Given the description of an element on the screen output the (x, y) to click on. 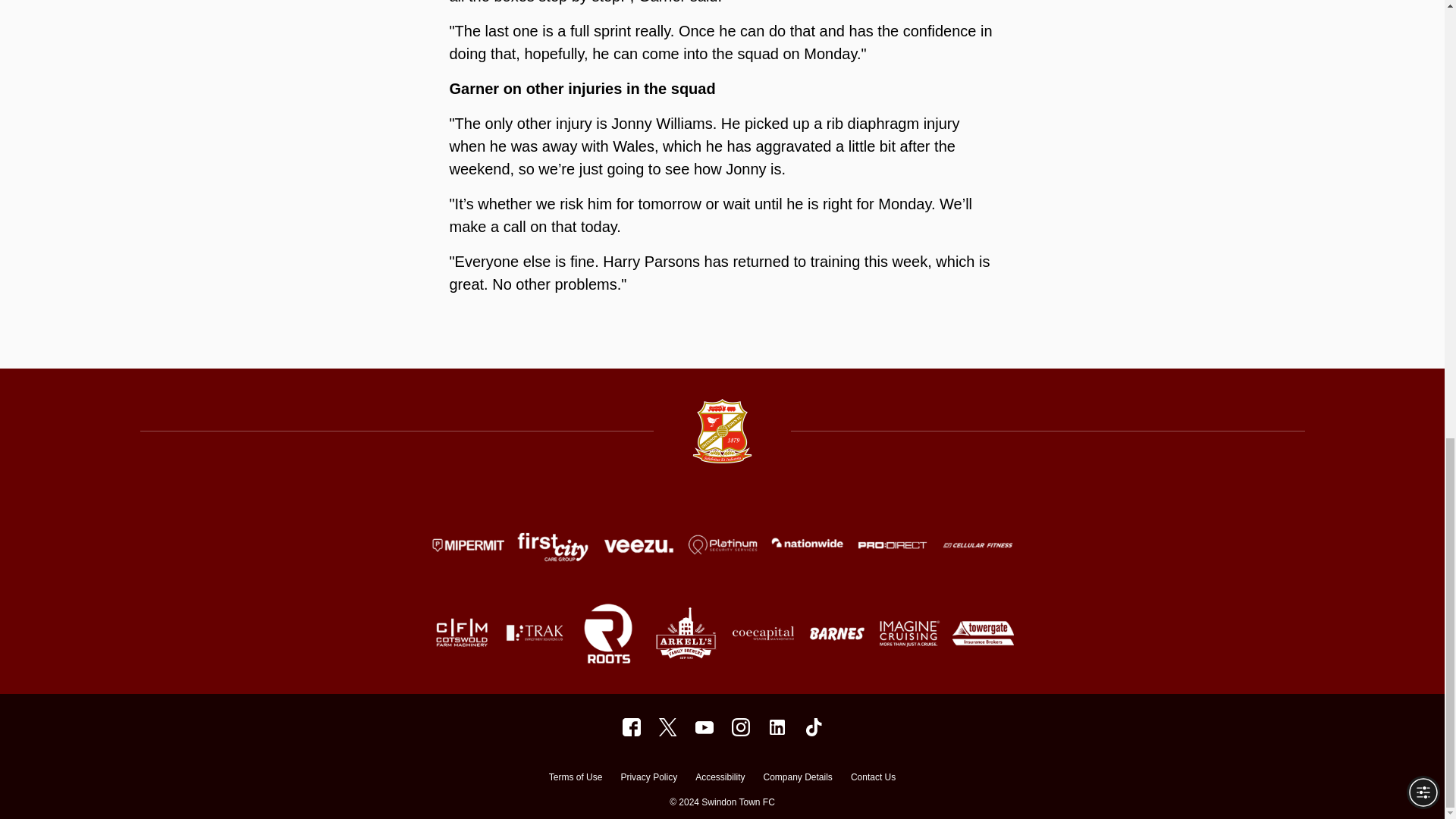
Accessibility (719, 779)
Privacy Policy (648, 779)
Accessibility (719, 779)
Contact Us (872, 779)
Swindon Town Football Club (630, 727)
theofficialstfc (812, 727)
Company Details (796, 779)
Terms of Use (575, 779)
Privacy Policy (648, 779)
Swindon Town Football Club (776, 727)
Swindon Town Football Club (703, 727)
Terms of Use (575, 779)
Company Details (796, 779)
